Given the description of an element on the screen output the (x, y) to click on. 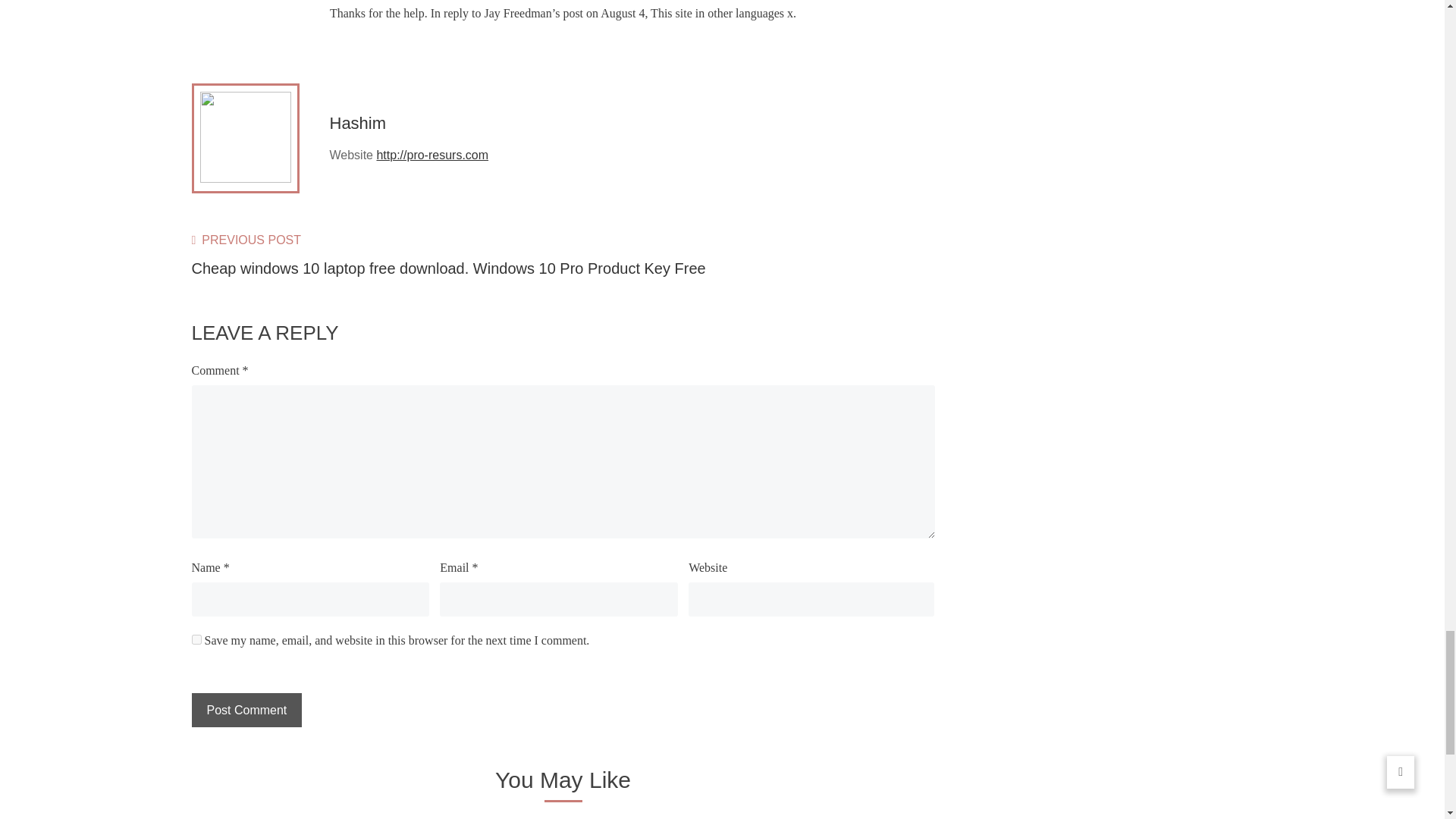
Hashim (357, 122)
Post Comment (245, 709)
Posts by Hashim (357, 122)
Post Comment (245, 709)
yes (195, 639)
